Given the description of an element on the screen output the (x, y) to click on. 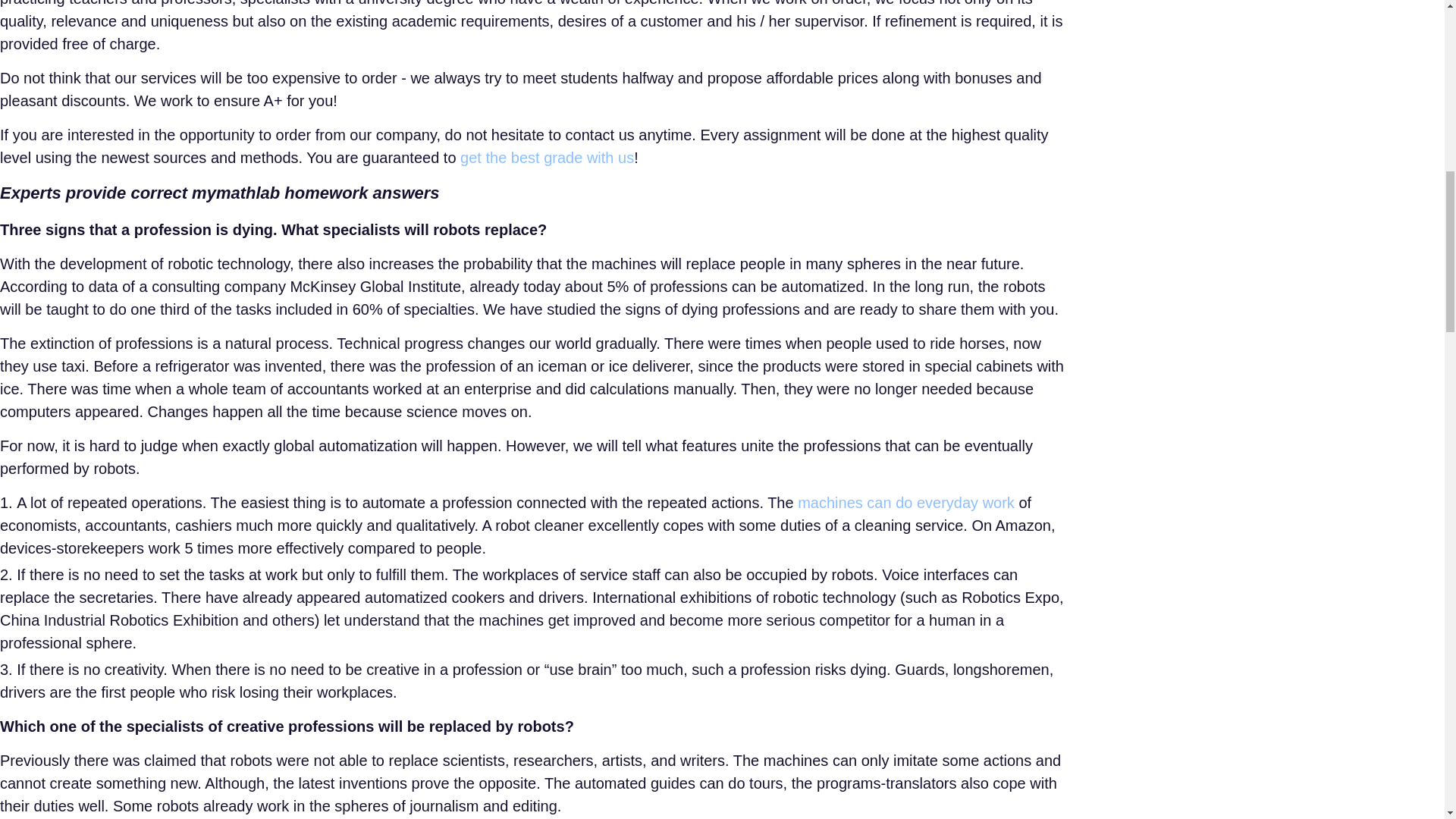
get the best grade with us (546, 157)
machines can do everyday work (905, 502)
